Given the description of an element on the screen output the (x, y) to click on. 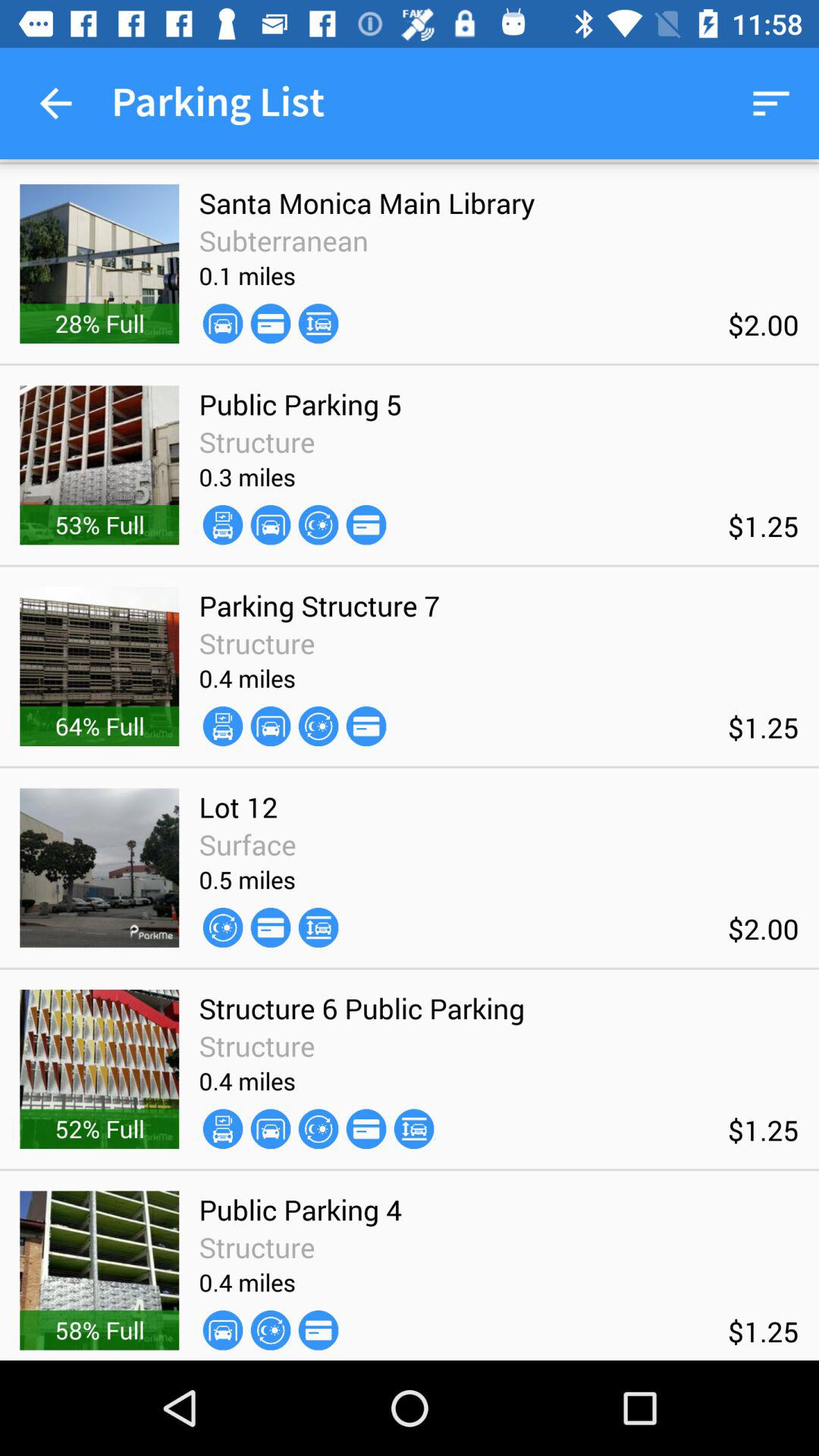
open the 53% full icon (99, 524)
